Given the description of an element on the screen output the (x, y) to click on. 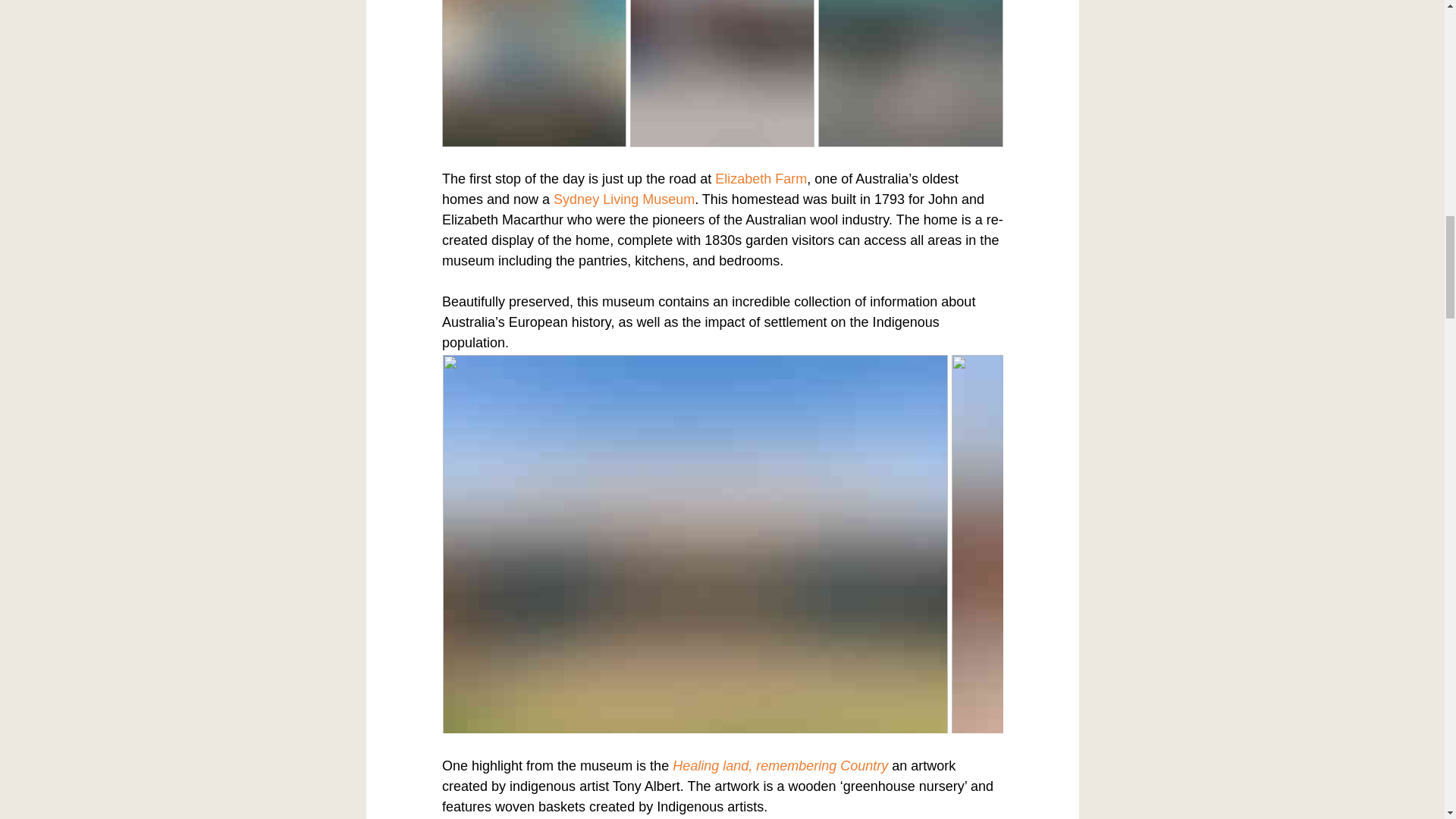
Sydney Living Museum (623, 199)
Elizabeth Farm (760, 178)
Healing land, remembering Country (780, 765)
